Given the description of an element on the screen output the (x, y) to click on. 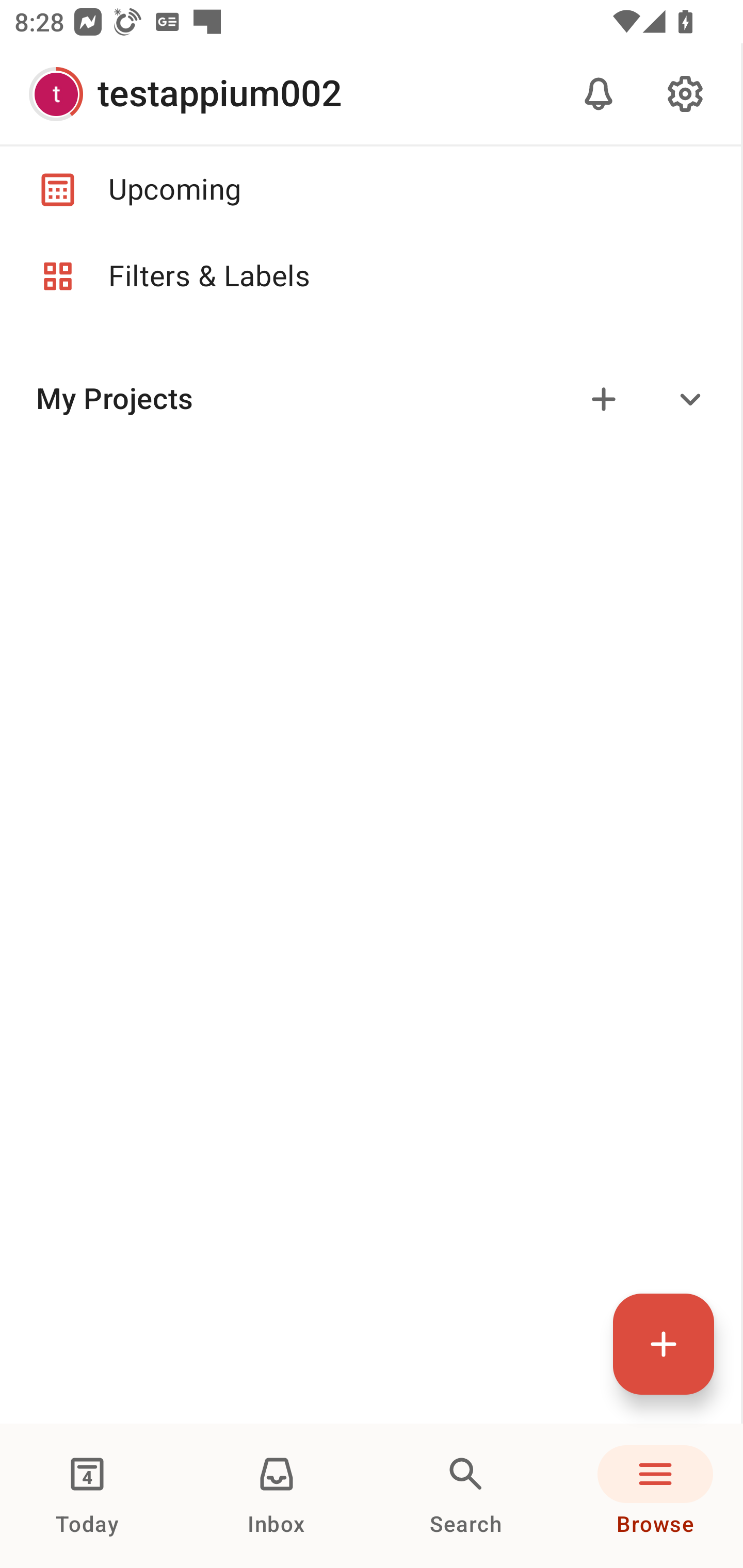
Notifications (598, 93)
Settings (684, 93)
Upcoming (370, 189)
Filters & Labels (370, 276)
My Projects Add Expand/collapse (370, 398)
Add (603, 398)
Expand/collapse (690, 398)
Quick add (663, 1343)
Today (87, 1495)
Inbox (276, 1495)
Search (465, 1495)
